Given the description of an element on the screen output the (x, y) to click on. 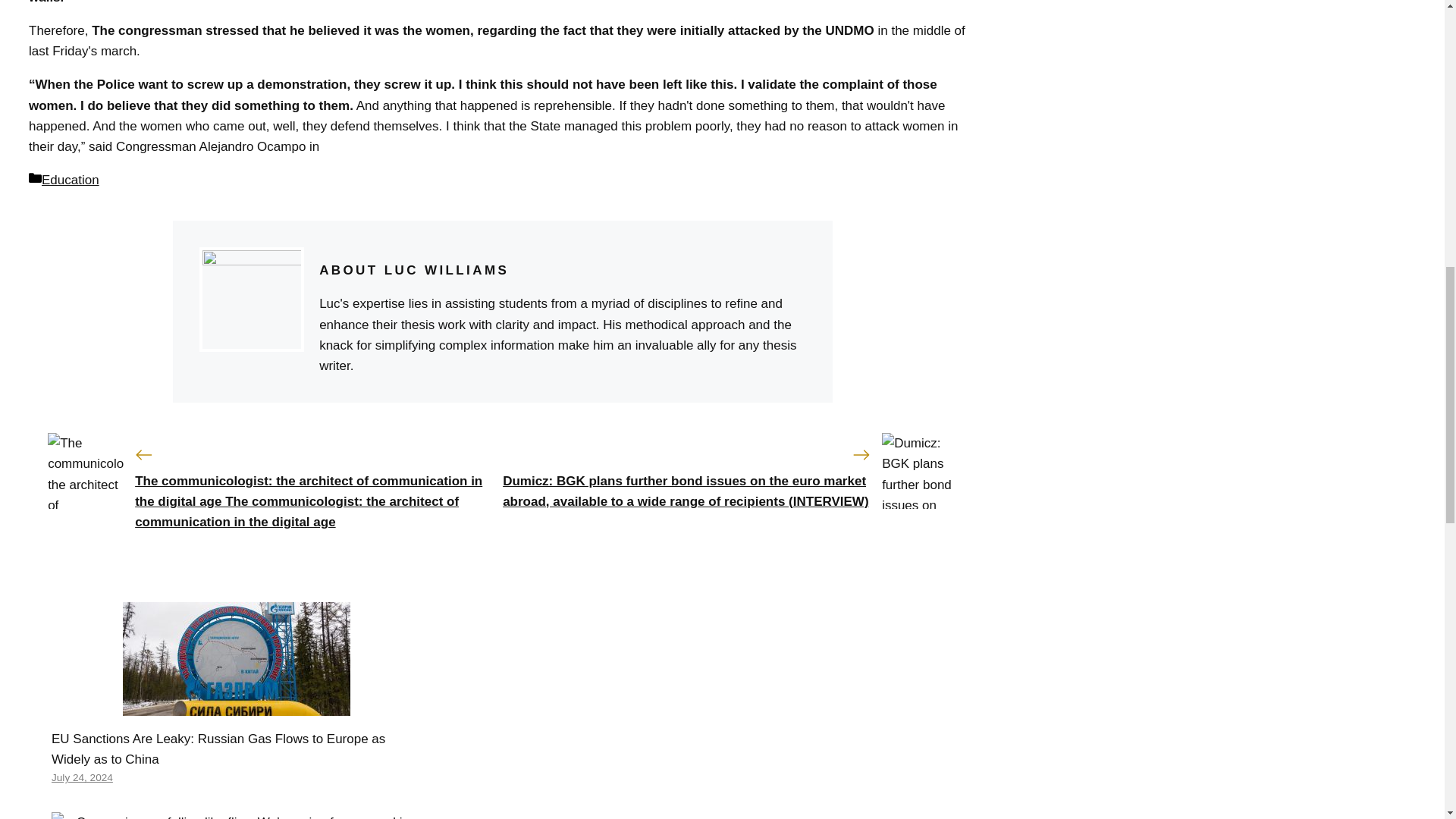
Education (70, 179)
3:39 pm (81, 777)
July 24, 2024 (81, 777)
